Given the description of an element on the screen output the (x, y) to click on. 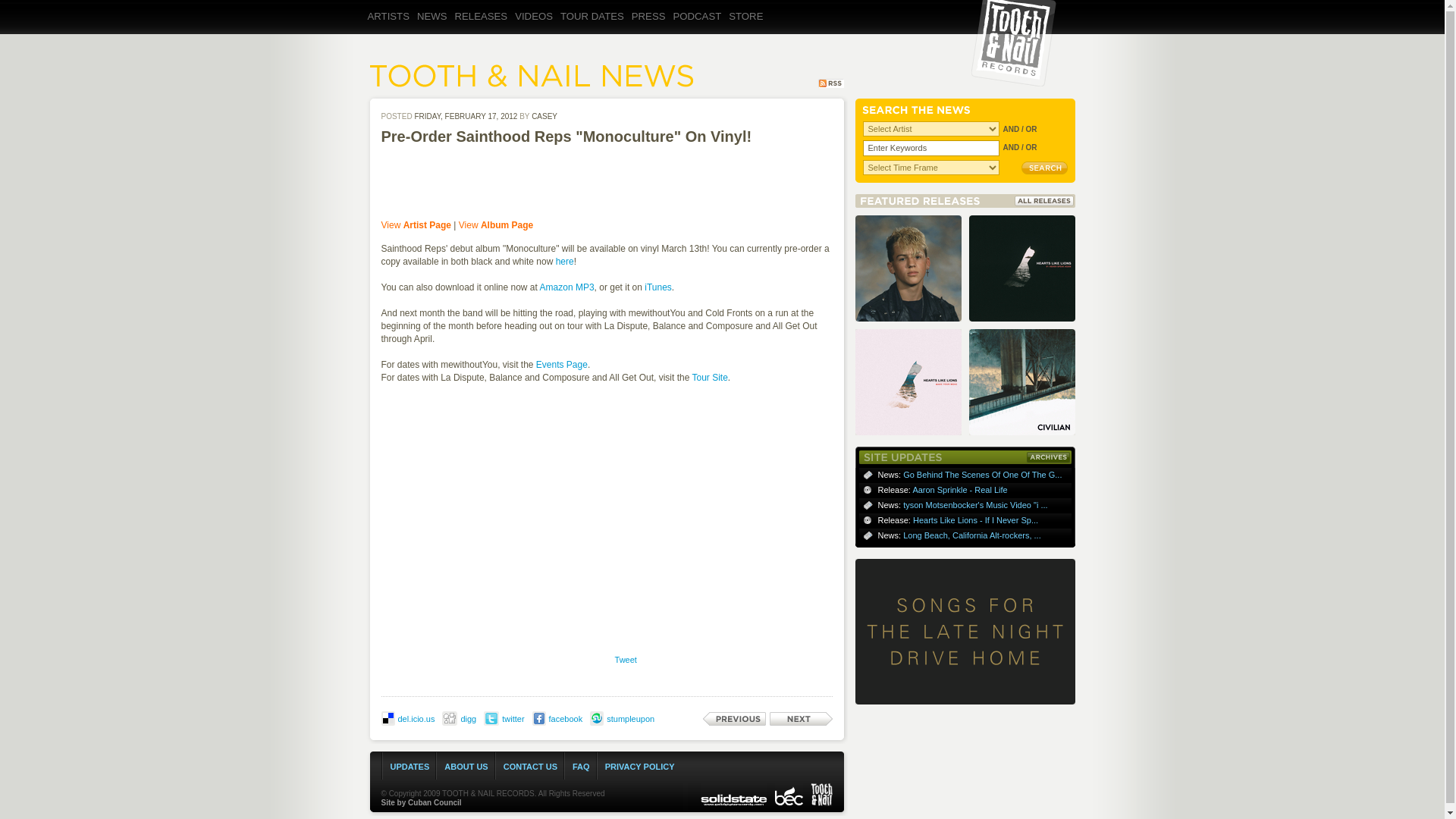
UPDATES (409, 766)
Enter Keywords (930, 148)
STORE (747, 28)
RELEASES (482, 28)
Tweet (625, 659)
FAQ (580, 766)
View Album Page (496, 225)
here (564, 261)
facebook (565, 718)
Events Page (561, 364)
iTunes (658, 286)
stumpleupon (630, 718)
TOUR DATES (594, 28)
twitter (513, 718)
del.icio.us (415, 718)
